Given the description of an element on the screen output the (x, y) to click on. 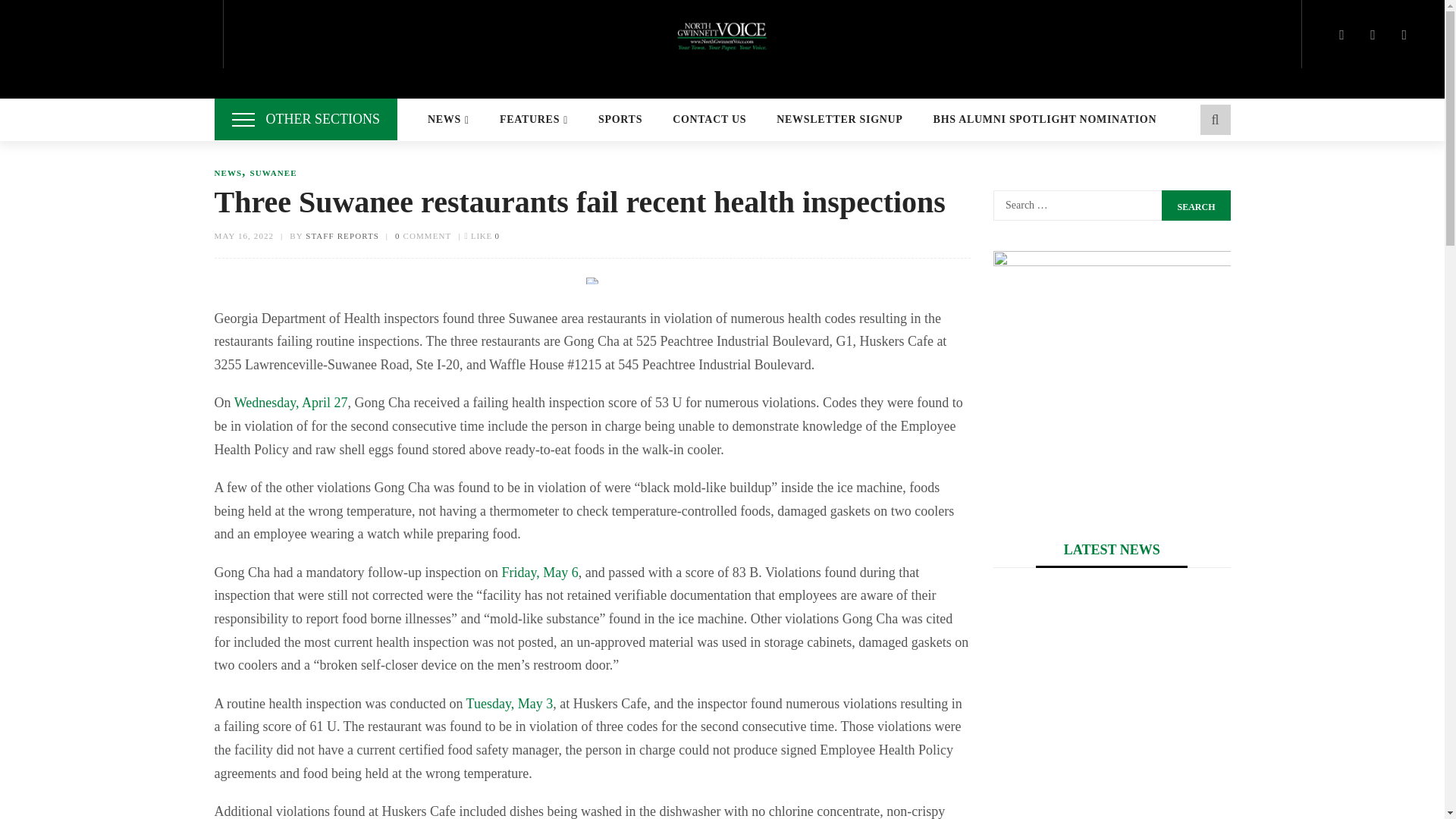
Tuesday, May 3 (509, 703)
STAFF REPORTS (341, 235)
SUWANEE (273, 172)
NEWS (227, 172)
LIKE 0 (481, 235)
NEWSLETTER SIGNUP (839, 119)
Three Suwanee restaurants fail recent health inspections (592, 280)
Friday, May 6 (539, 572)
NEWS (448, 119)
BHS ALUMNI SPOTLIGHT NOMINATION (1045, 119)
